Given the description of an element on the screen output the (x, y) to click on. 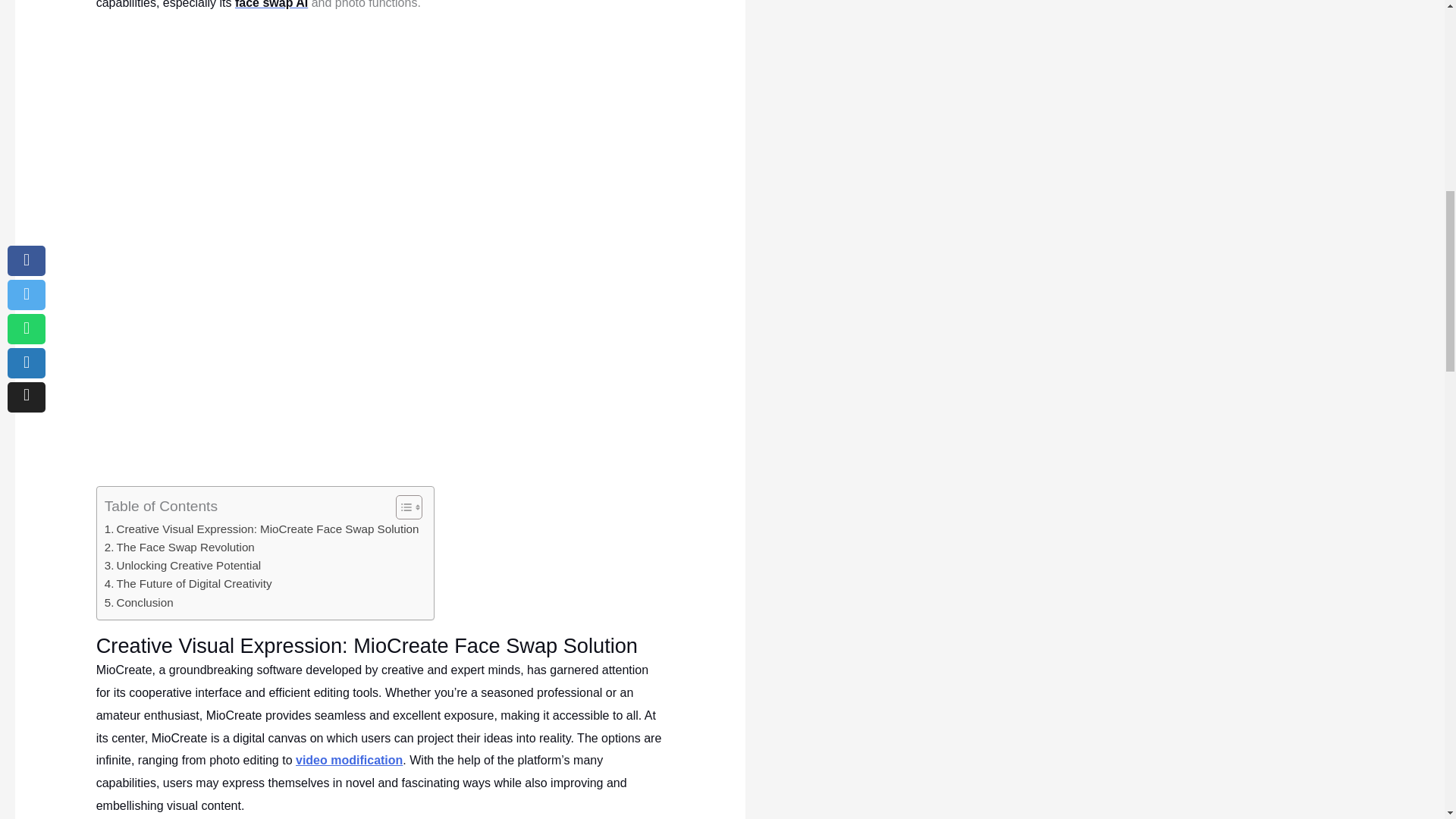
Conclusion (138, 602)
Advertisement (380, 126)
face swap AI (270, 4)
The Future of Digital Creativity (188, 583)
video modification (349, 759)
The Face Swap Revolution (179, 547)
Conclusion (138, 602)
Creative Visual Expression: MioCreate Face Swap Solution (261, 529)
The Future of Digital Creativity (188, 583)
Advertisement (380, 373)
Unlocking Creative Potential (183, 565)
The Face Swap Revolution (179, 547)
Unlocking Creative Potential (183, 565)
Creative Visual Expression: MioCreate Face Swap Solution (261, 529)
